Given the description of an element on the screen output the (x, y) to click on. 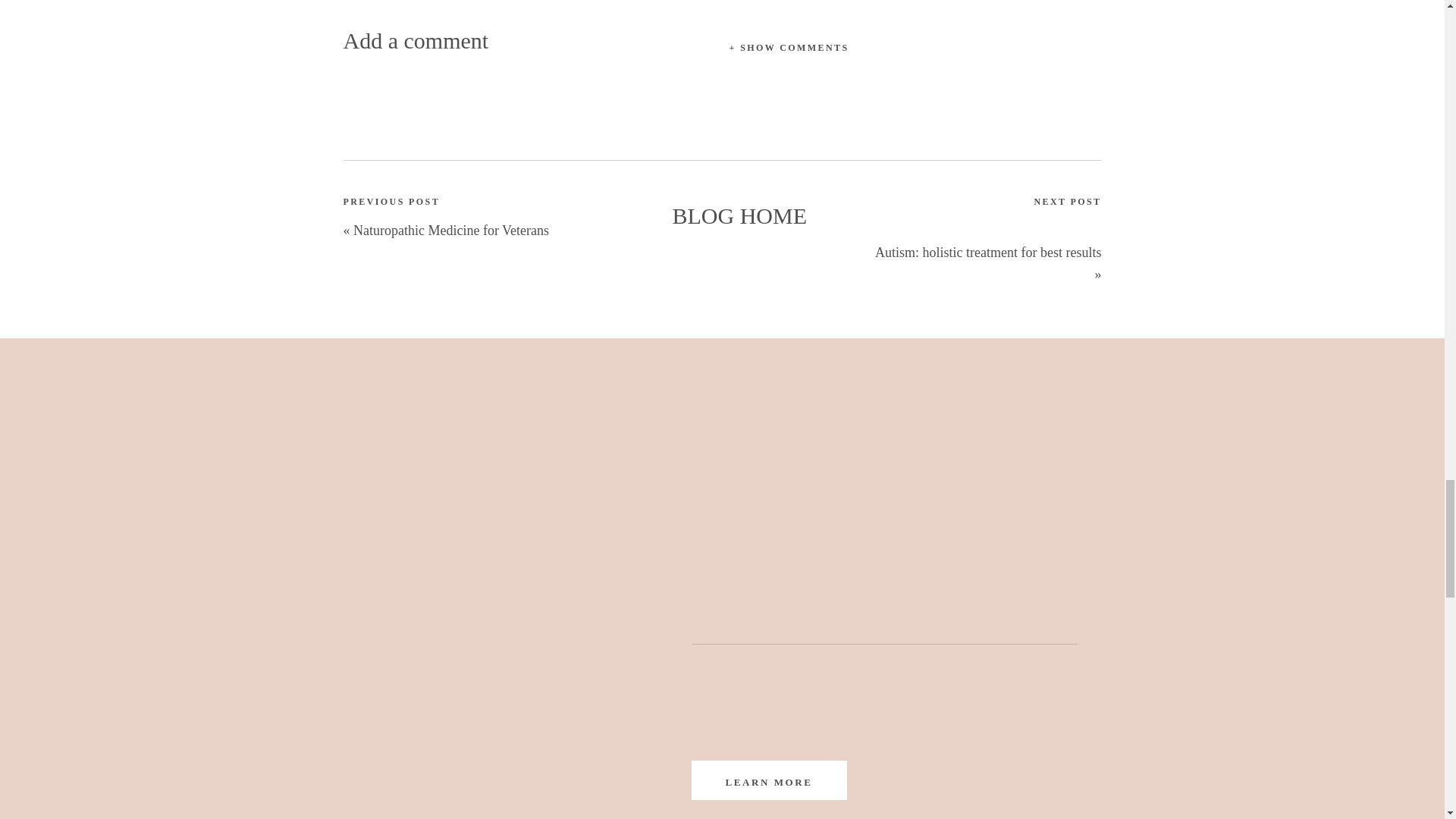
Autism: holistic treatment for best results (987, 252)
LEARN MORE (767, 780)
 BLOG HOME (737, 216)
Naturopathic Medicine for Veterans (450, 230)
